Given the description of an element on the screen output the (x, y) to click on. 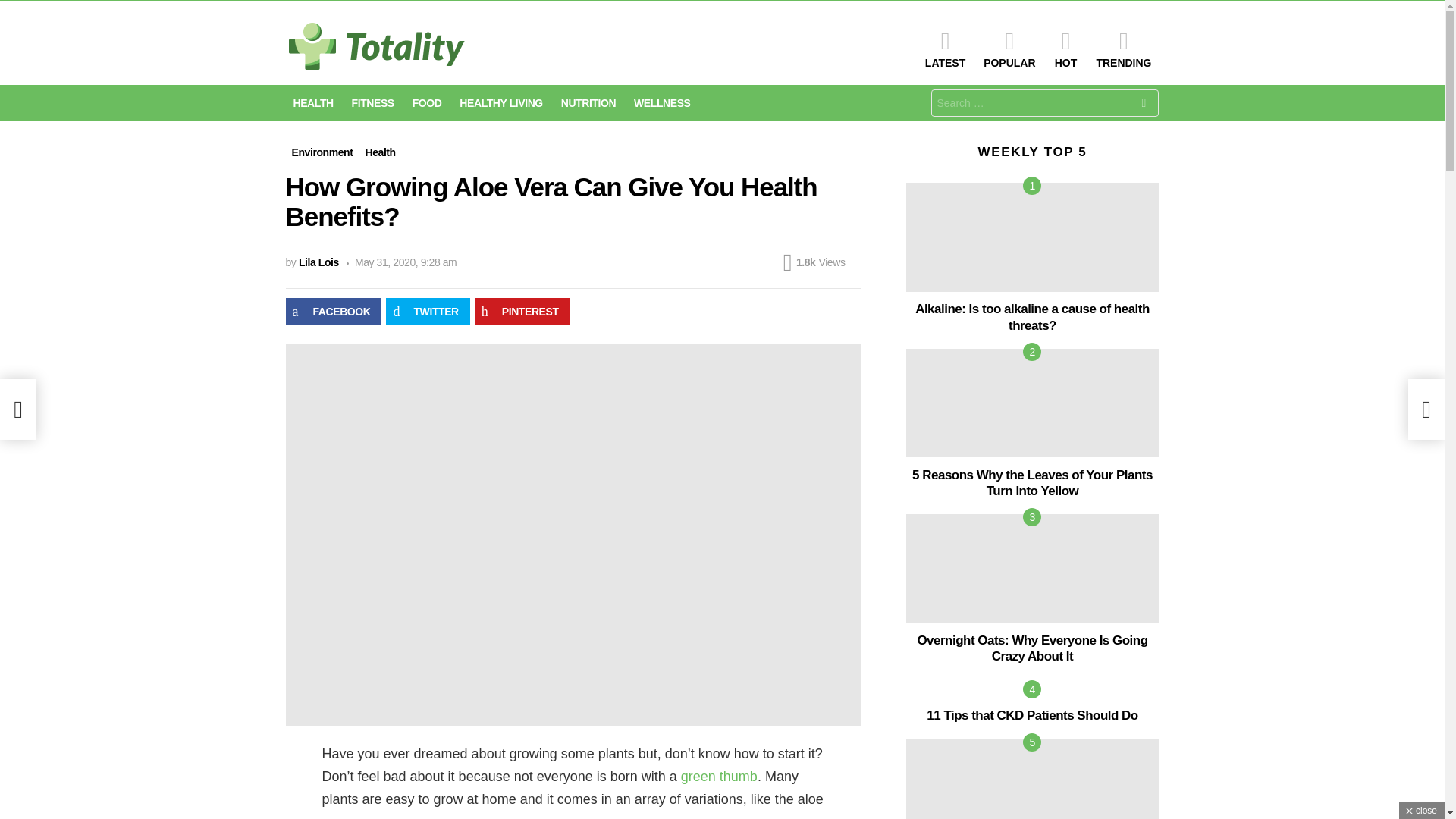
HEALTHY LIVING (500, 102)
SEARCH (1143, 104)
FACEBOOK (333, 311)
HEALTH (312, 102)
WELLNESS (661, 102)
Lila Lois (318, 262)
Share on Pinterest (522, 311)
Share on Facebook (333, 311)
HOT (1064, 48)
LATEST (944, 48)
Health (379, 152)
Posts by Lila Lois (318, 262)
green thumb (719, 776)
FITNESS (372, 102)
Share on Twitter (426, 311)
